Given the description of an element on the screen output the (x, y) to click on. 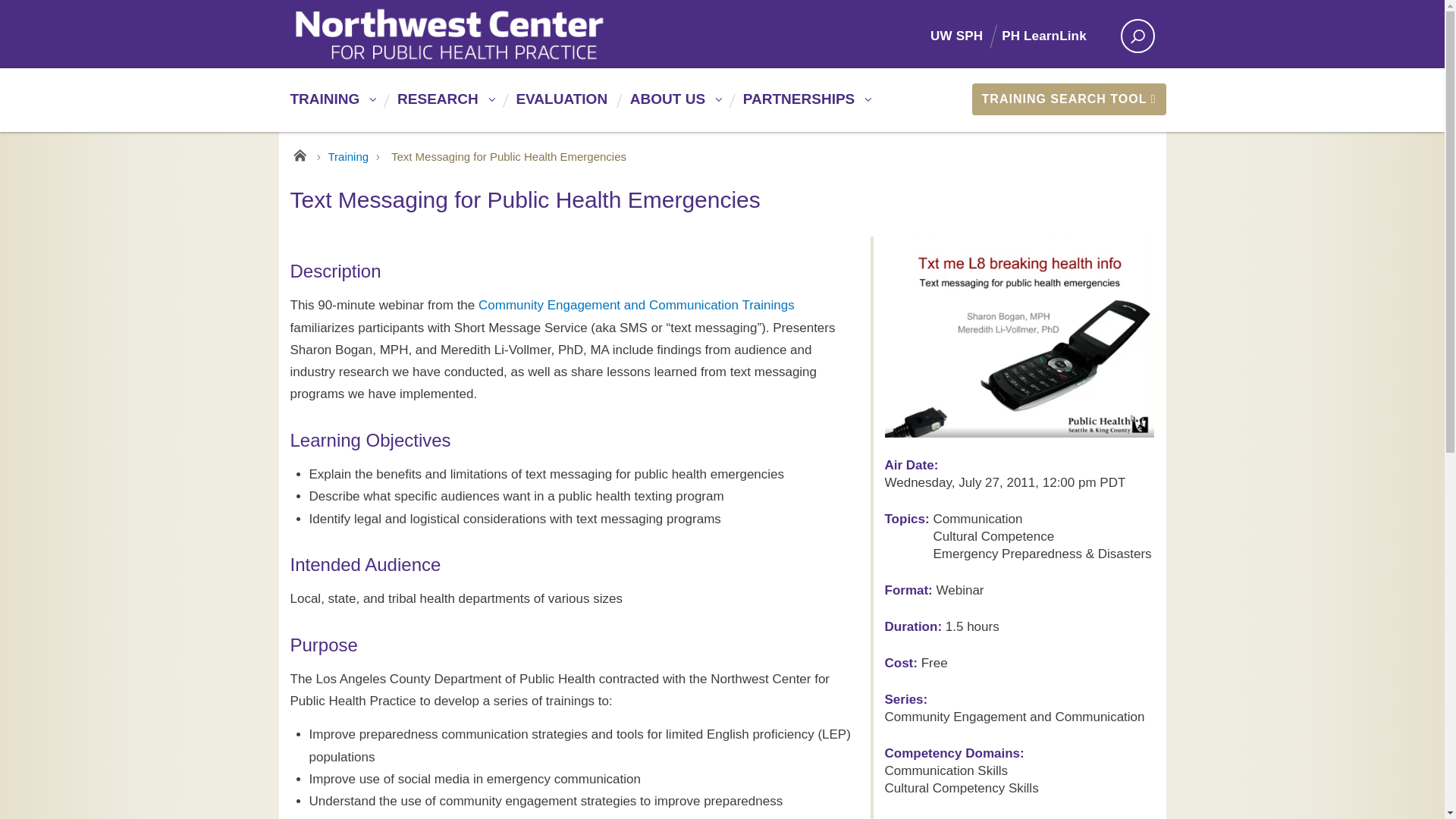
Search (854, 1)
PH LearnLink (1053, 36)
Northwest Center for Public Health Practice (501, 34)
RESEARCH (442, 105)
PARTNERSHIPS (804, 105)
TRAINING (330, 105)
UW SPH (965, 36)
ABOUT US (673, 105)
PH LearnLink (1053, 36)
TRAINING SEARCH TOOL (1068, 98)
EVALUATION (558, 105)
University of Washington School of Public Health (965, 36)
